Given the description of an element on the screen output the (x, y) to click on. 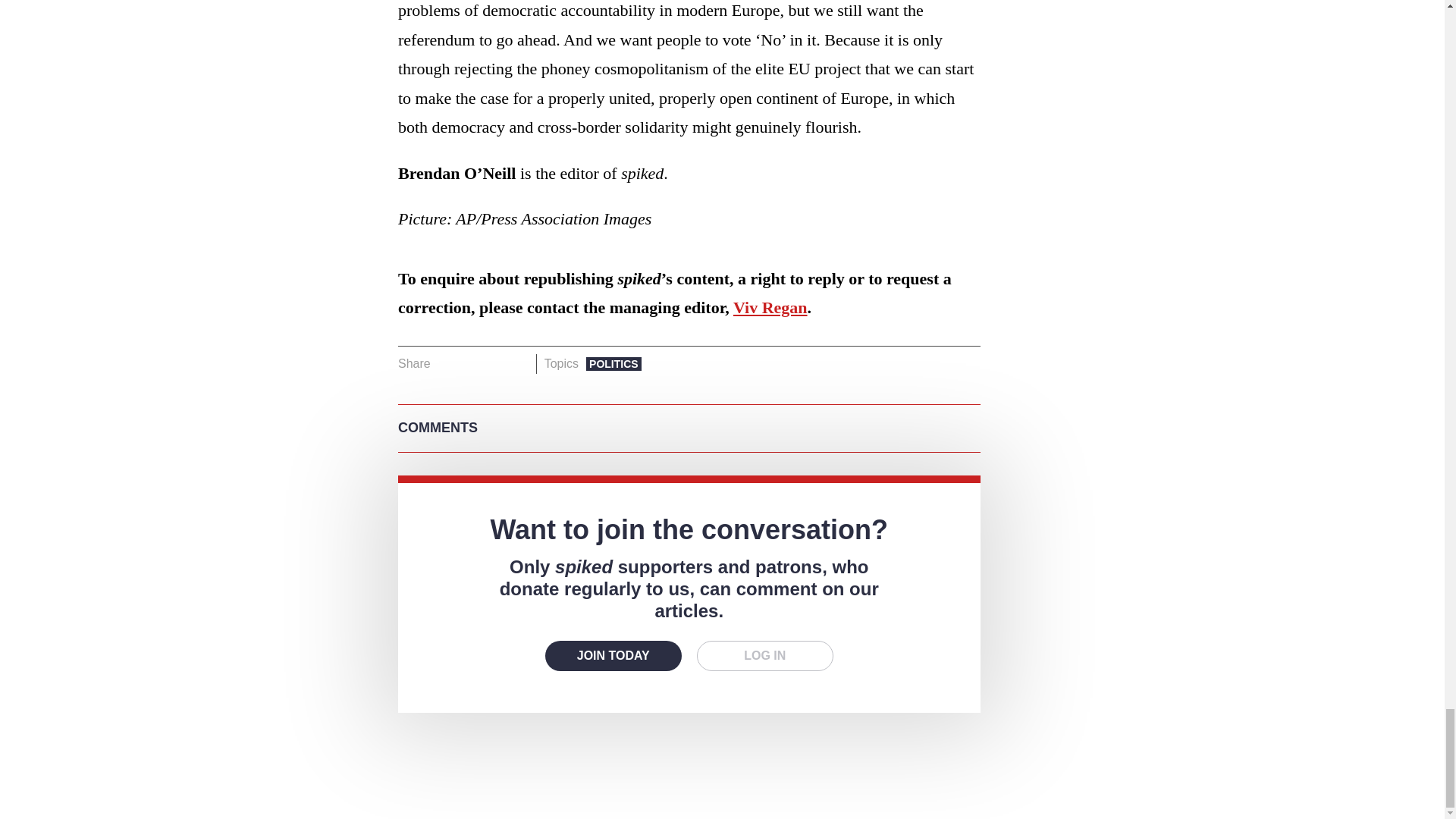
Share on Email (518, 363)
Share on Whatsapp (494, 363)
Share on Facebook (448, 363)
Share on Twitter (471, 363)
